Given the description of an element on the screen output the (x, y) to click on. 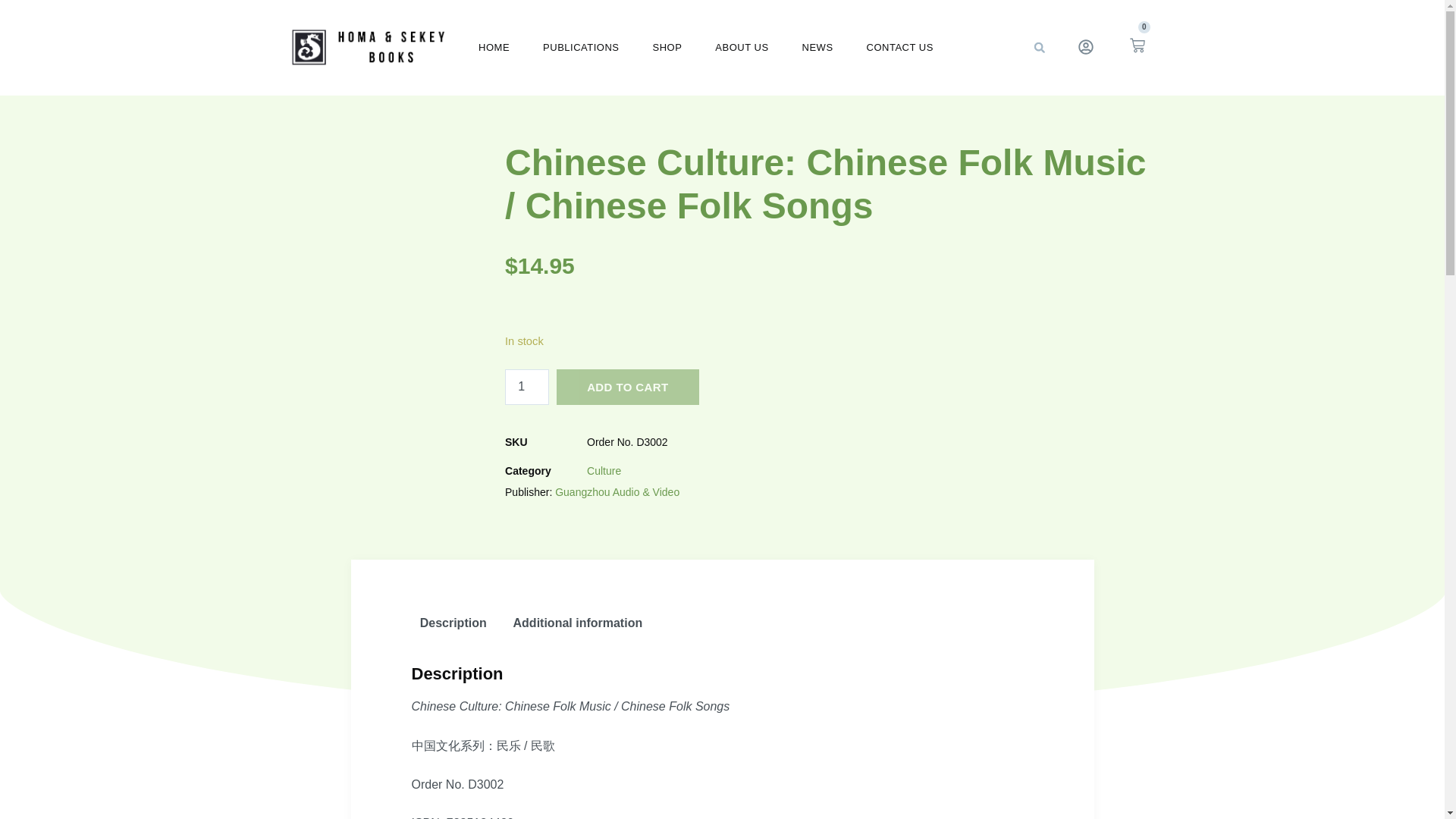
SHOP (667, 47)
HOME (493, 47)
CONTACT US (899, 47)
ABOUT US (741, 47)
1 (526, 386)
PUBLICATIONS (580, 47)
NEWS (817, 47)
